Given the description of an element on the screen output the (x, y) to click on. 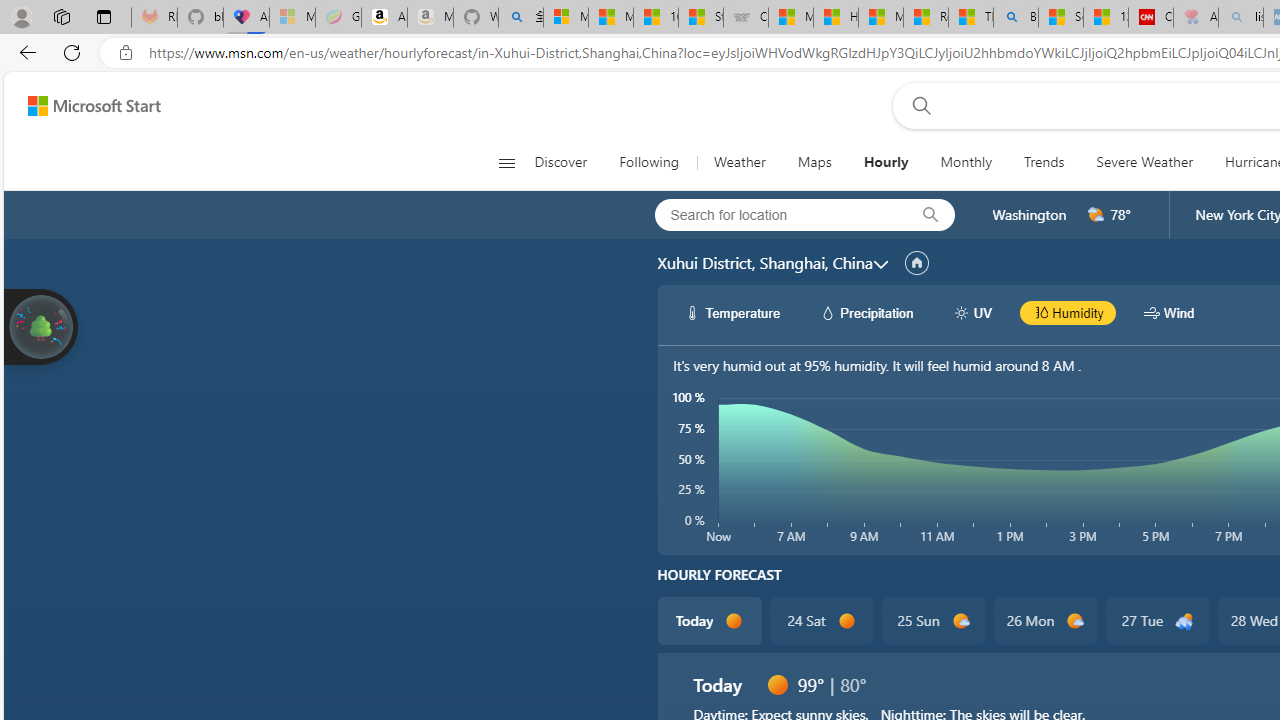
27 Tue d2200 (1156, 620)
